Given the description of an element on the screen output the (x, y) to click on. 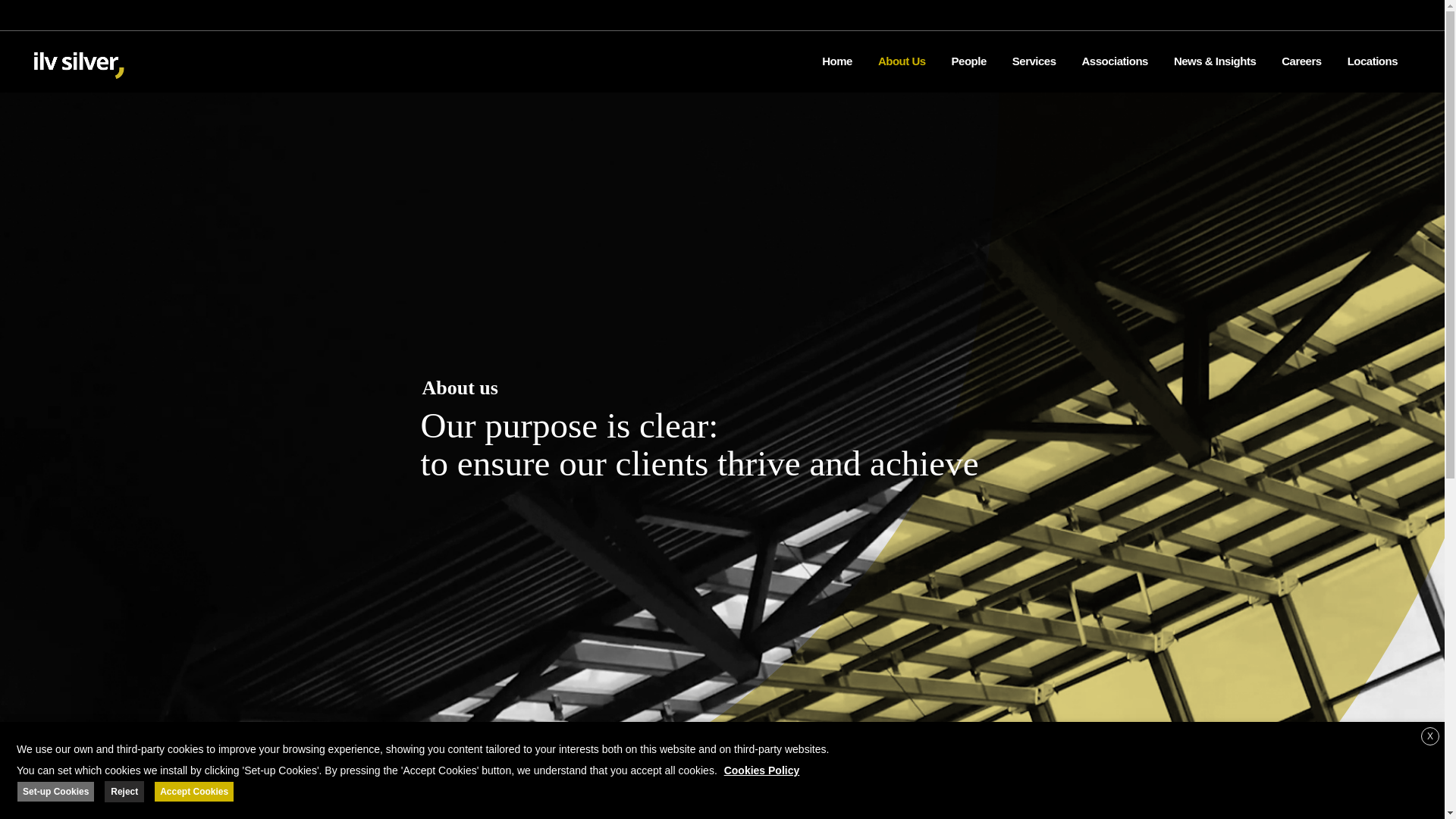
Close and Accept (1430, 736)
People (968, 61)
About Us (901, 61)
Services (1033, 61)
Home (836, 61)
